Given the description of an element on the screen output the (x, y) to click on. 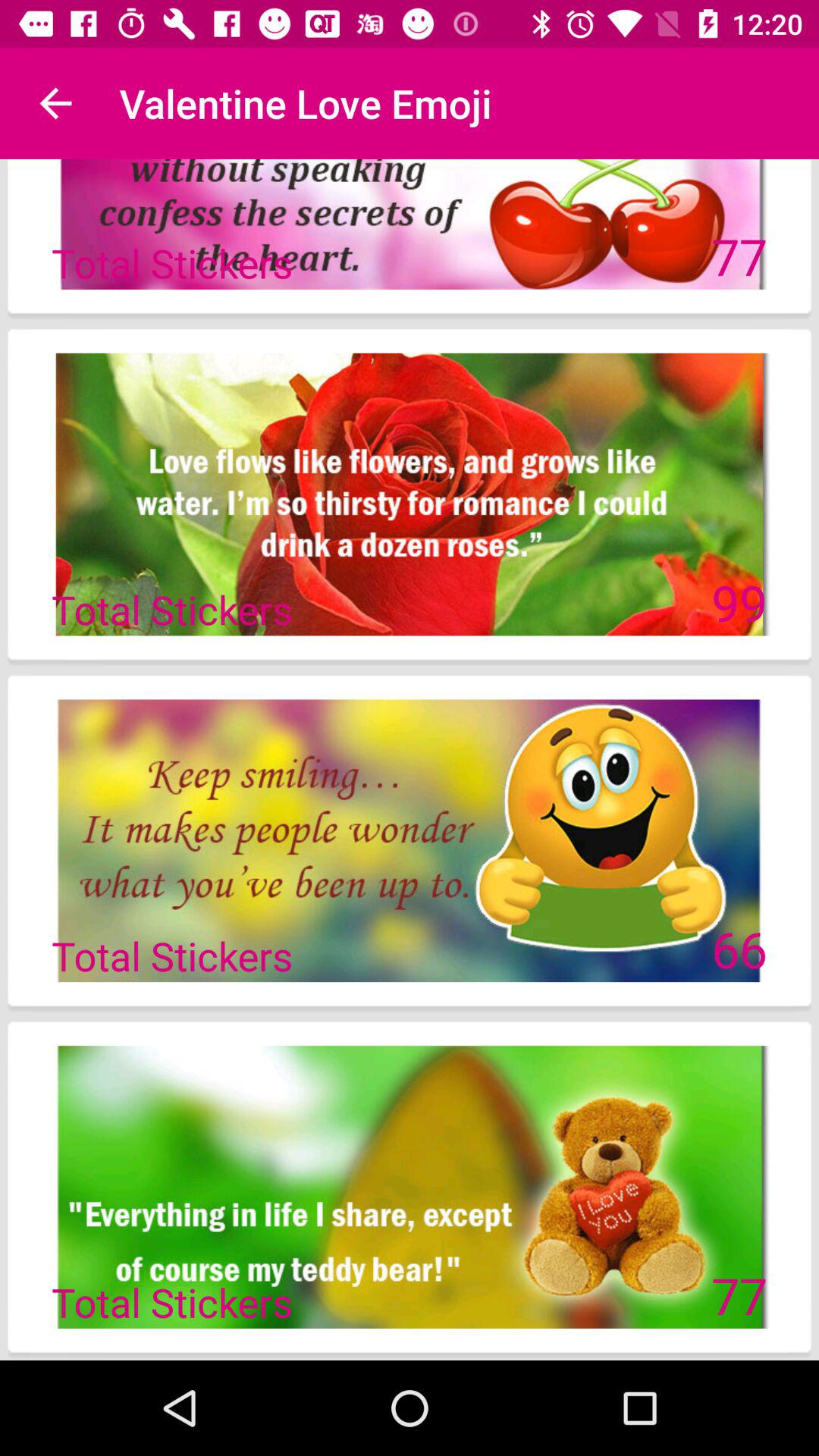
launch the item to the left of valentine love emoji item (55, 103)
